Given the description of an element on the screen output the (x, y) to click on. 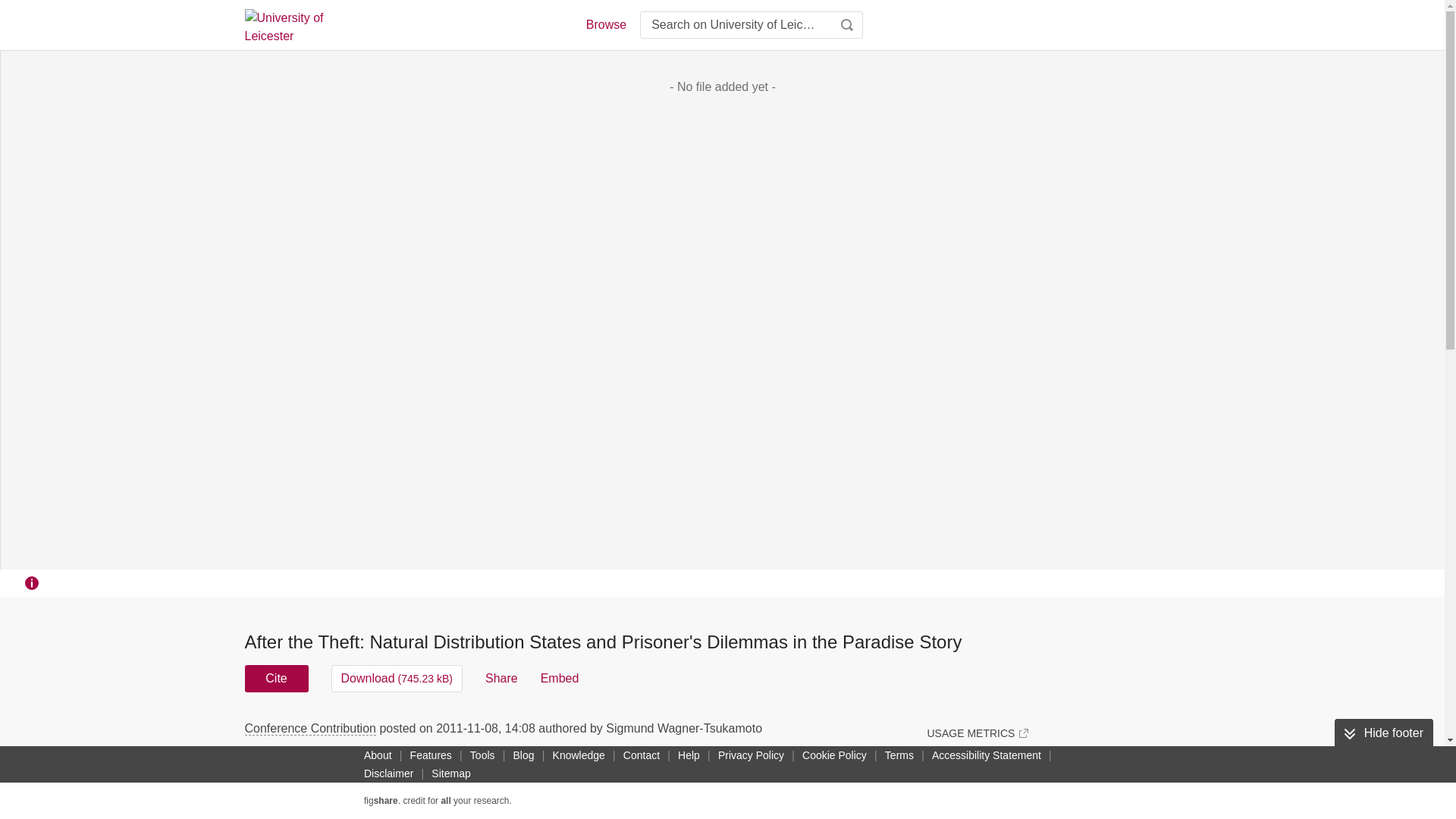
Tools (482, 755)
Cite (275, 678)
Privacy Policy (751, 755)
Share (501, 678)
Contact (640, 755)
About (377, 755)
Knowledge (579, 755)
Embed (559, 678)
Terms (899, 755)
Browse (605, 24)
